Given the description of an element on the screen output the (x, y) to click on. 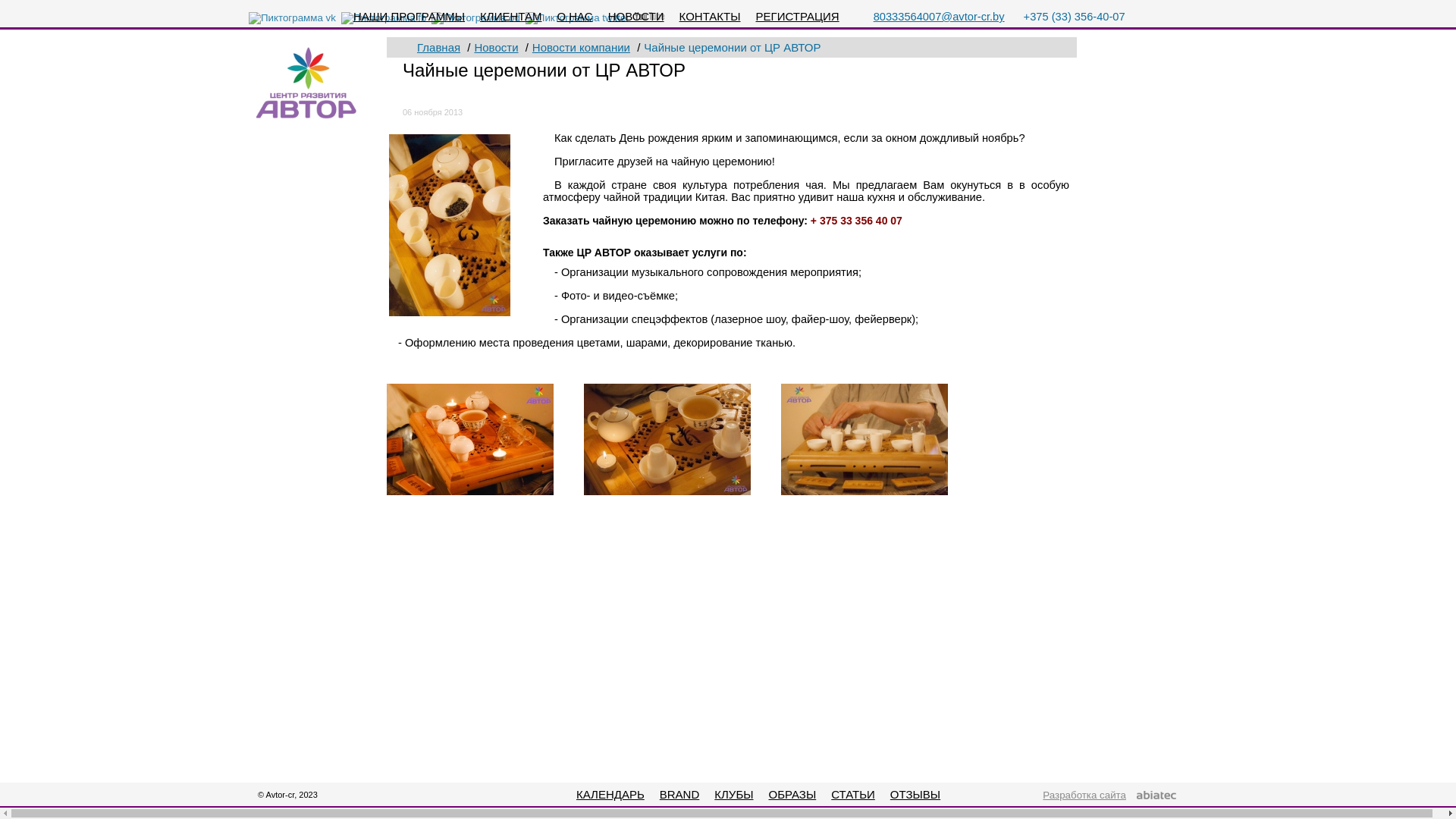
80333564007@avtor-cr.by Element type: text (938, 16)
BRAND Element type: text (679, 793)
